Given the description of an element on the screen output the (x, y) to click on. 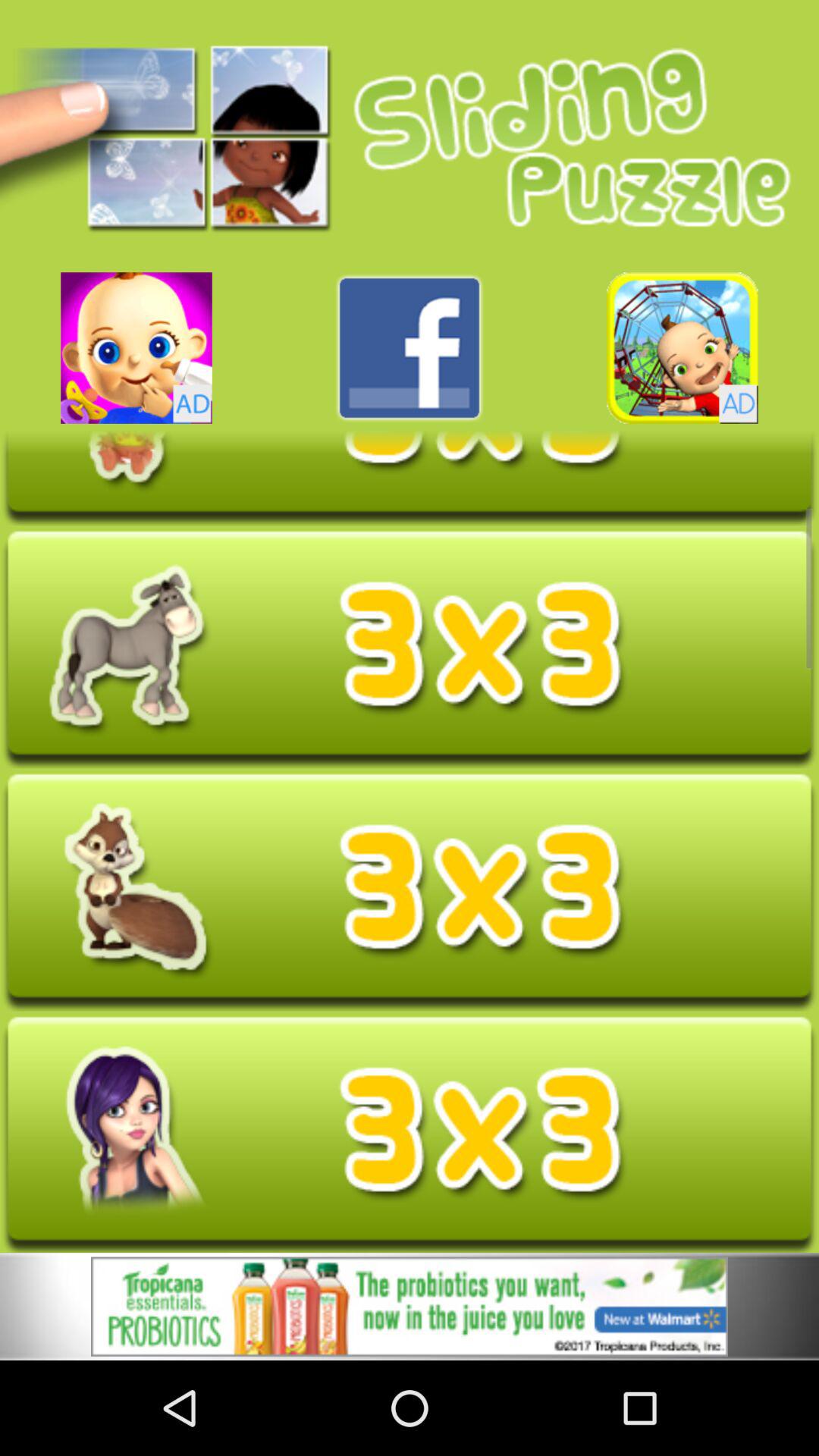
open the puzzle (409, 648)
